Given the description of an element on the screen output the (x, y) to click on. 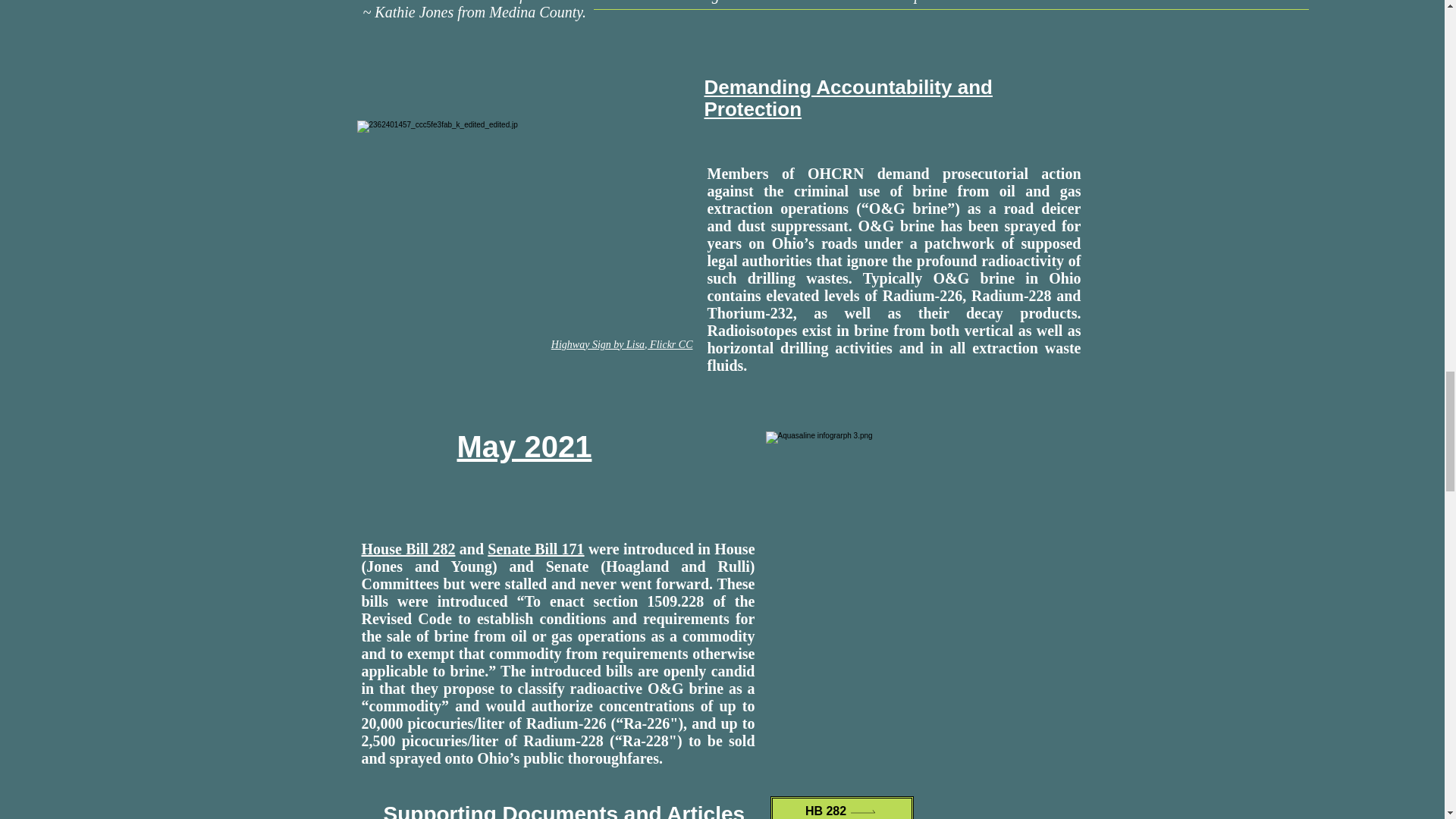
Highway Sign by Lisa, Flickr CC (622, 344)
